Given the description of an element on the screen output the (x, y) to click on. 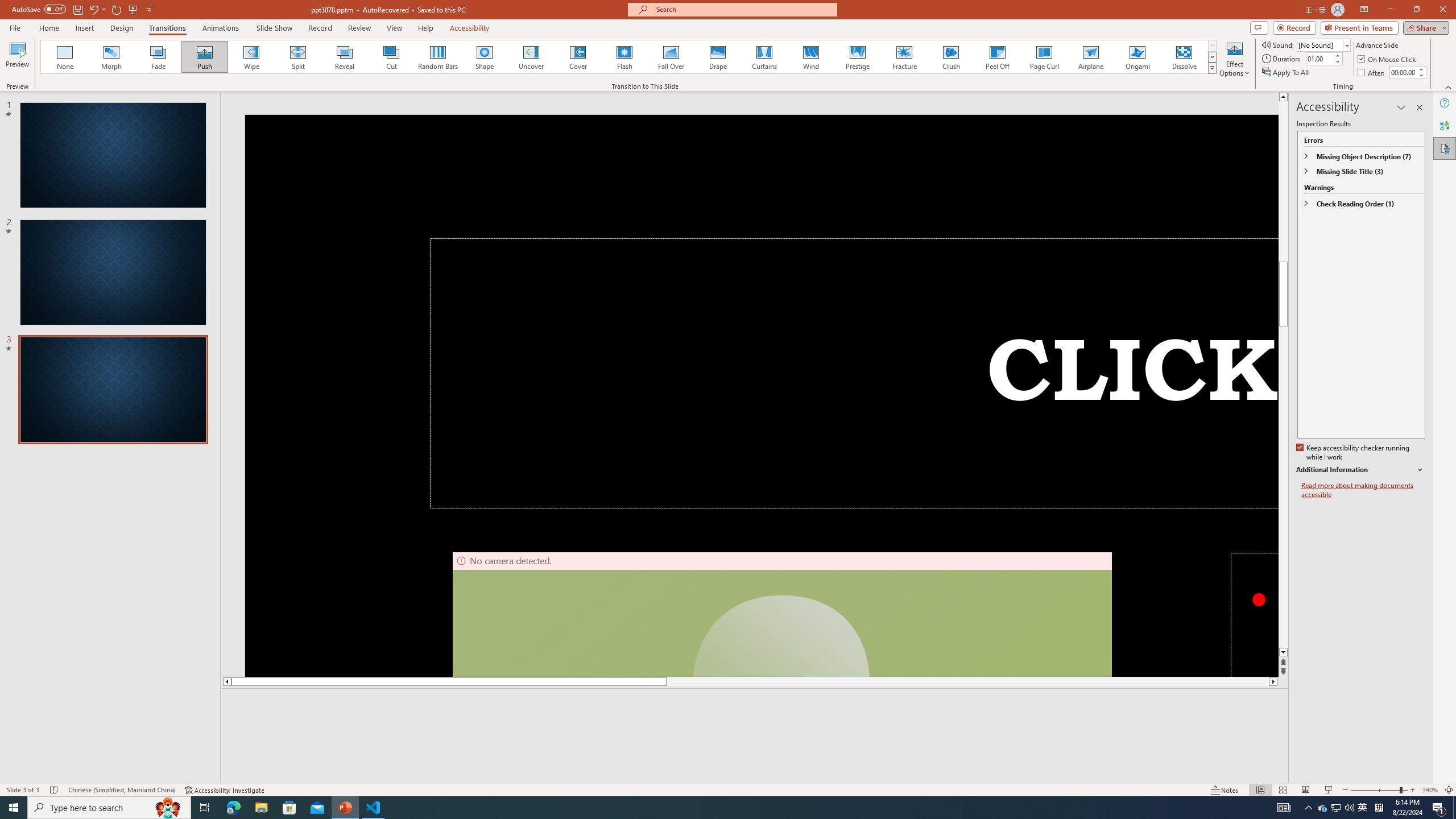
Page up (1427, 181)
Keep accessibility checker running while I work (1353, 452)
Fall Over (670, 56)
Dissolve (1183, 56)
Uncover (531, 56)
